Given the description of an element on the screen output the (x, y) to click on. 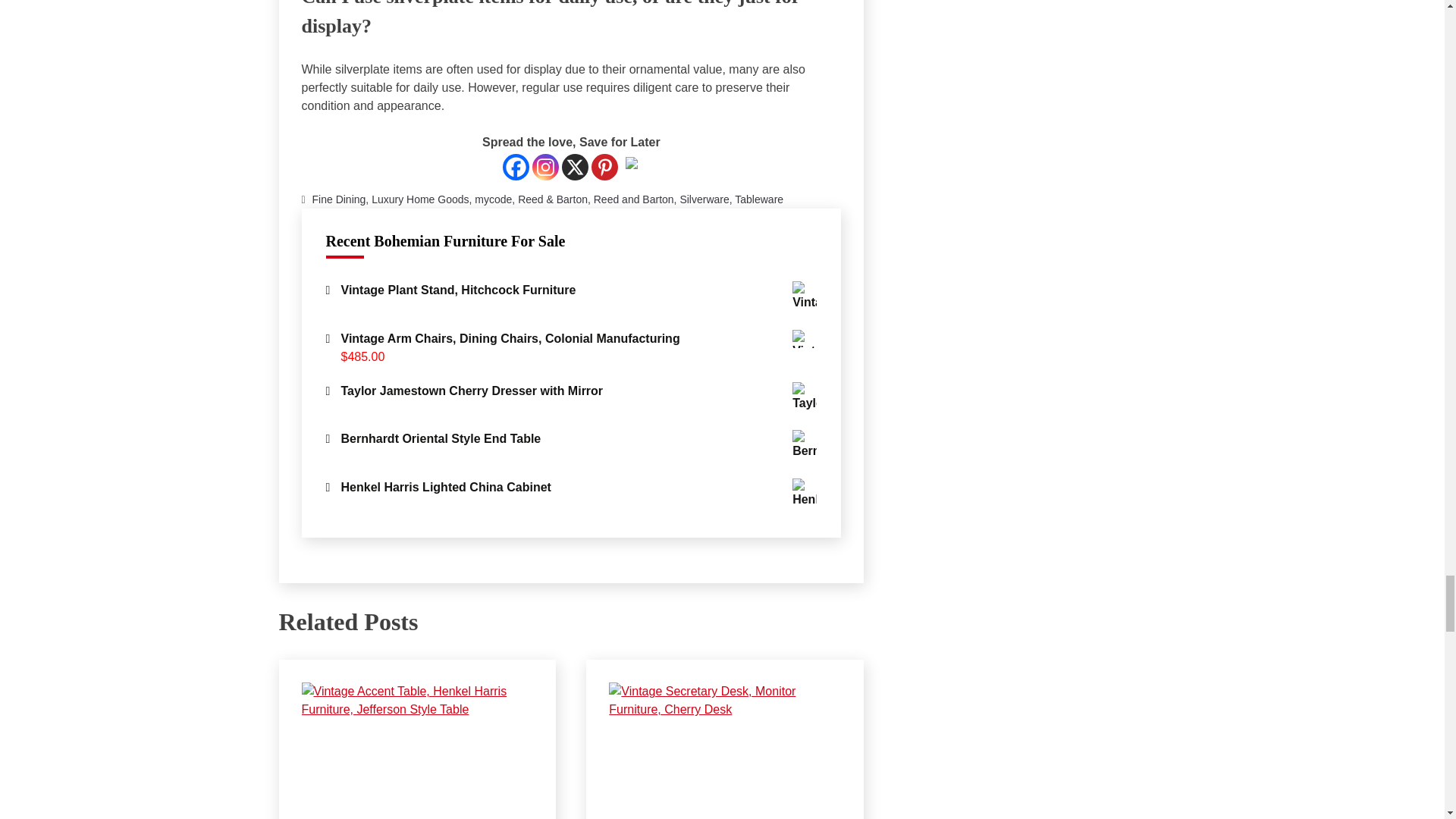
Facebook (515, 166)
Colonial1 (804, 339)
Instagram (545, 166)
X (575, 166)
Pinterest (604, 166)
